Given the description of an element on the screen output the (x, y) to click on. 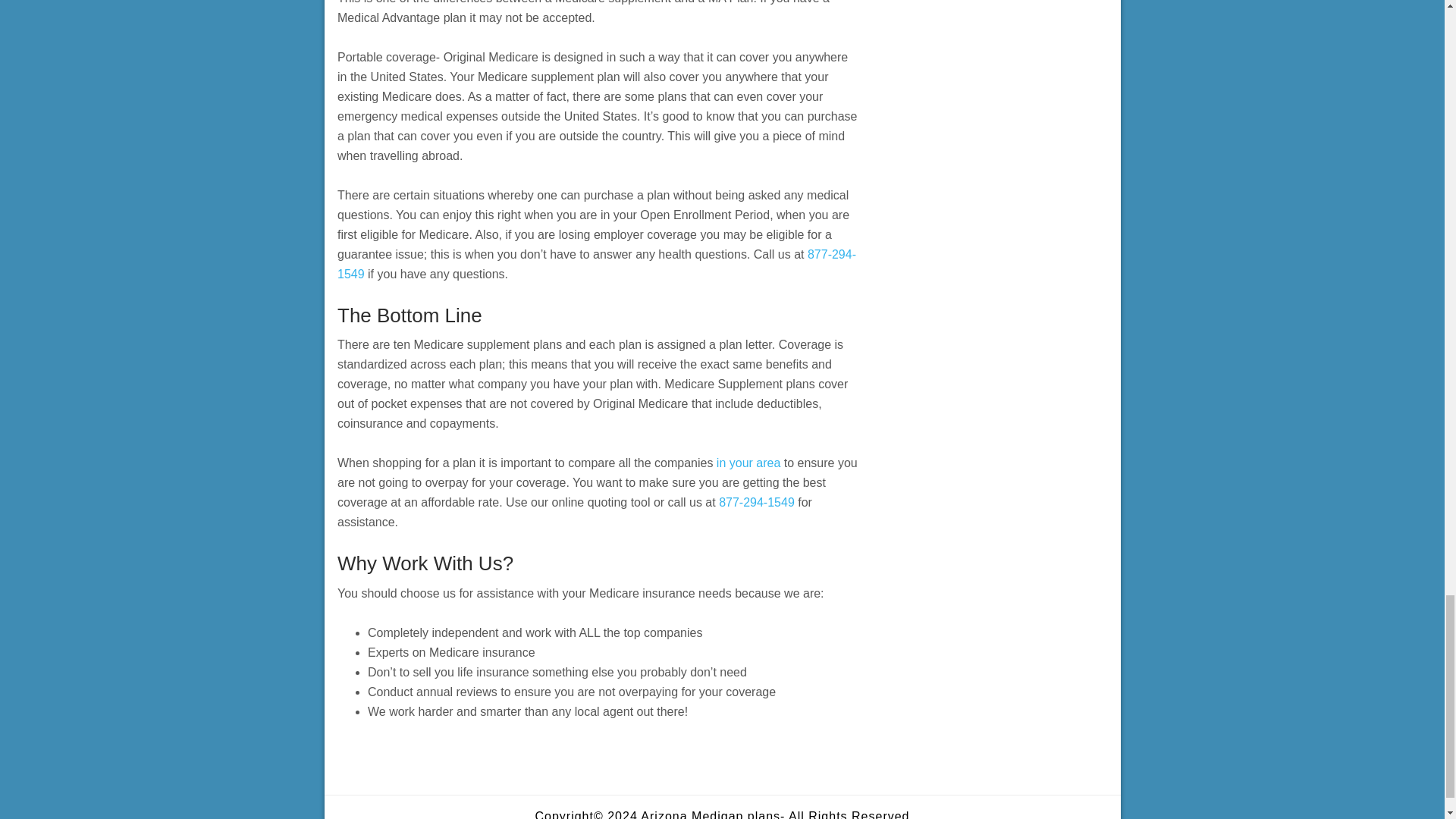
877-294-1549 (756, 502)
in your area (748, 462)
877-294-1549 (596, 264)
